Given the description of an element on the screen output the (x, y) to click on. 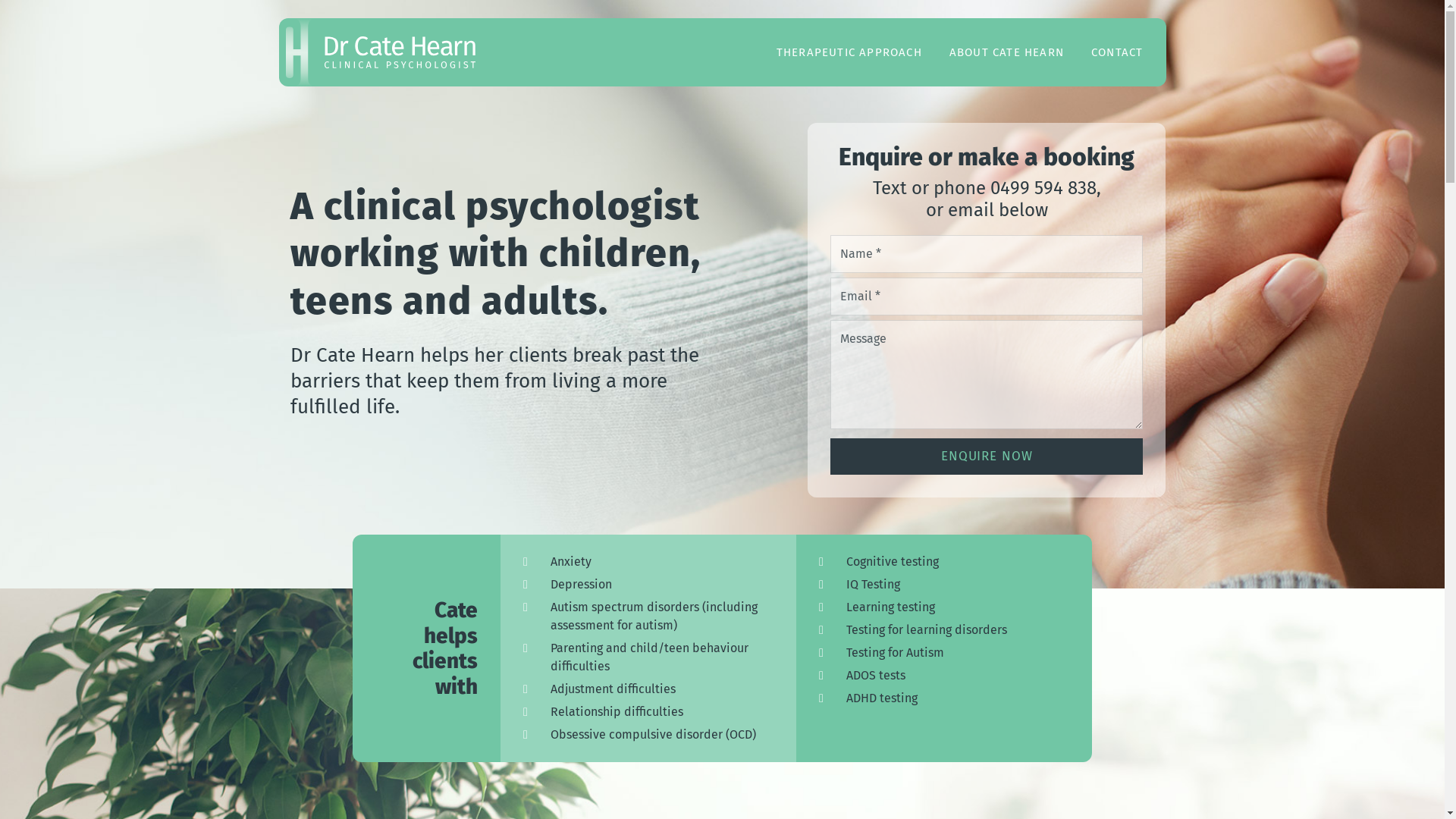
0499 594 838 Element type: text (1043, 187)
CONTACT Element type: text (1116, 51)
THERAPEUTIC APPROACH Element type: text (849, 51)
ABOUT CATE HEARN Element type: text (1006, 51)
ENQUIRE NOW Element type: text (986, 456)
